Given the description of an element on the screen output the (x, y) to click on. 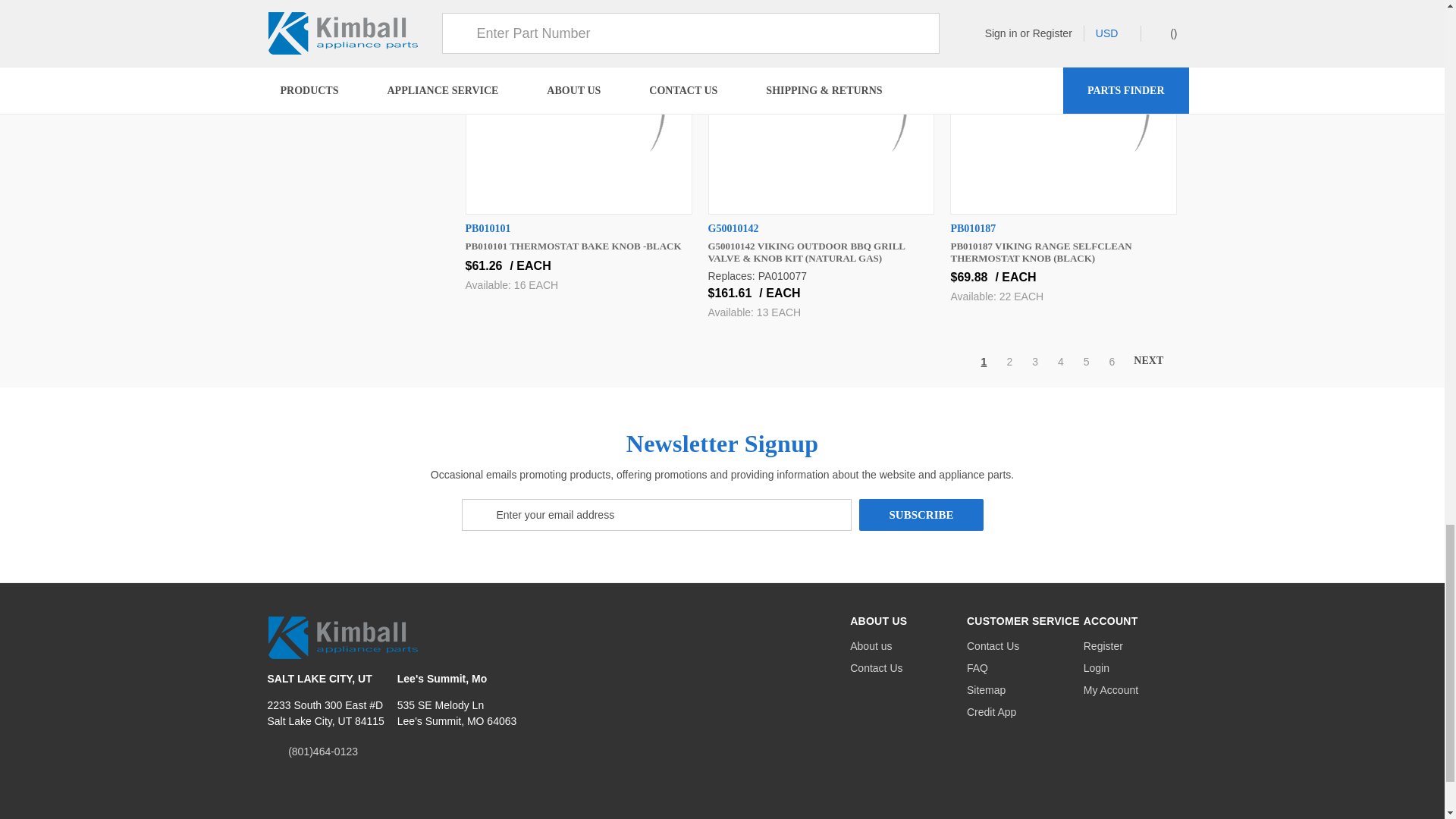
Subscribe (920, 514)
Kimball Appliance Parts (342, 637)
PB010101 THERMOSTAT BAKE KNOB -BLACK (578, 106)
